Given the description of an element on the screen output the (x, y) to click on. 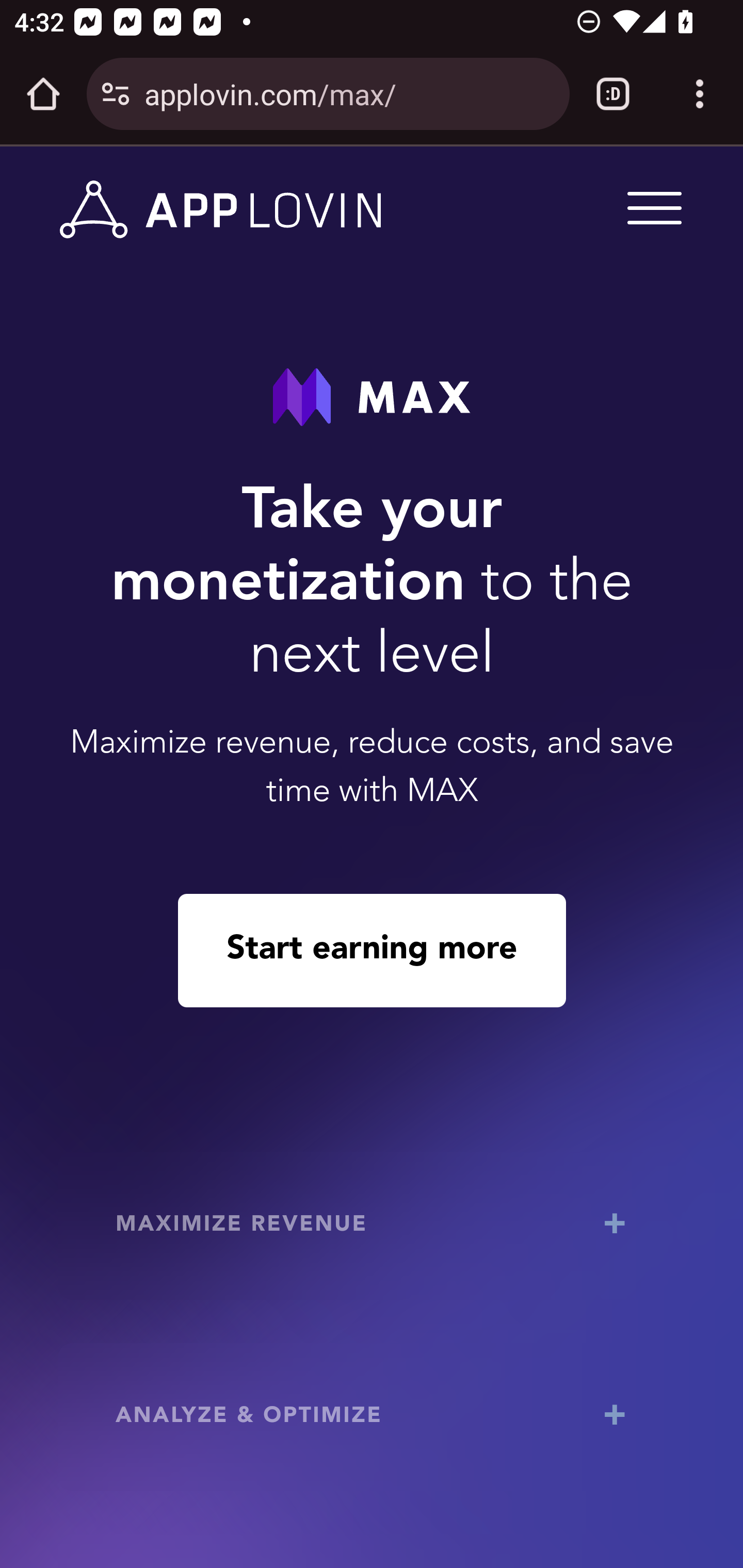
Open the home page (43, 93)
Connection is secure (115, 93)
Switch or close tabs (612, 93)
Customize and control Google Chrome (699, 93)
applovin.com/max/ (349, 92)
Menu Trigger (650, 207)
www.applovin (220, 209)
Start earning more (371, 950)
